Given the description of an element on the screen output the (x, y) to click on. 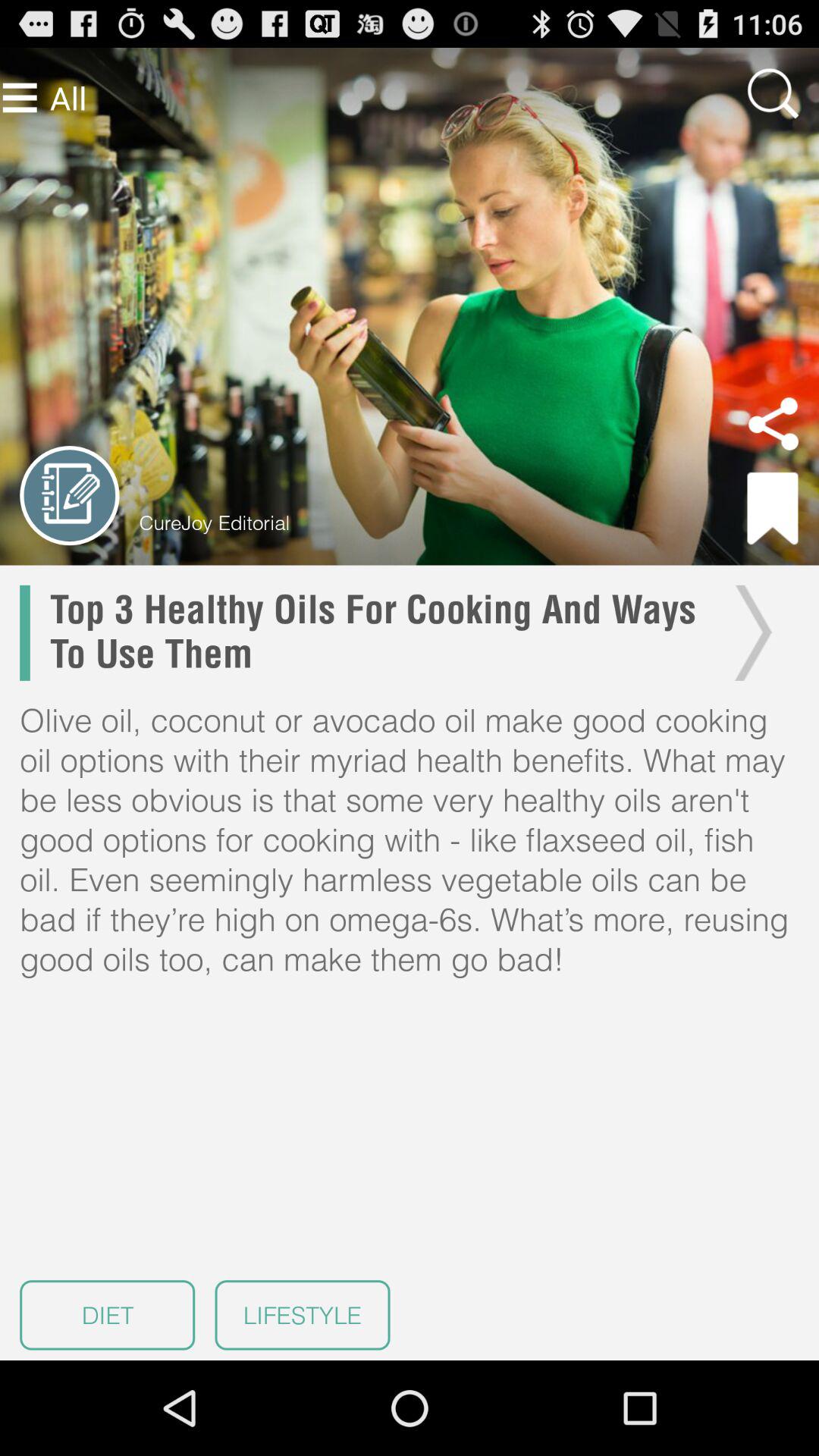
launch the item below olive oil coconut (302, 1315)
